Given the description of an element on the screen output the (x, y) to click on. 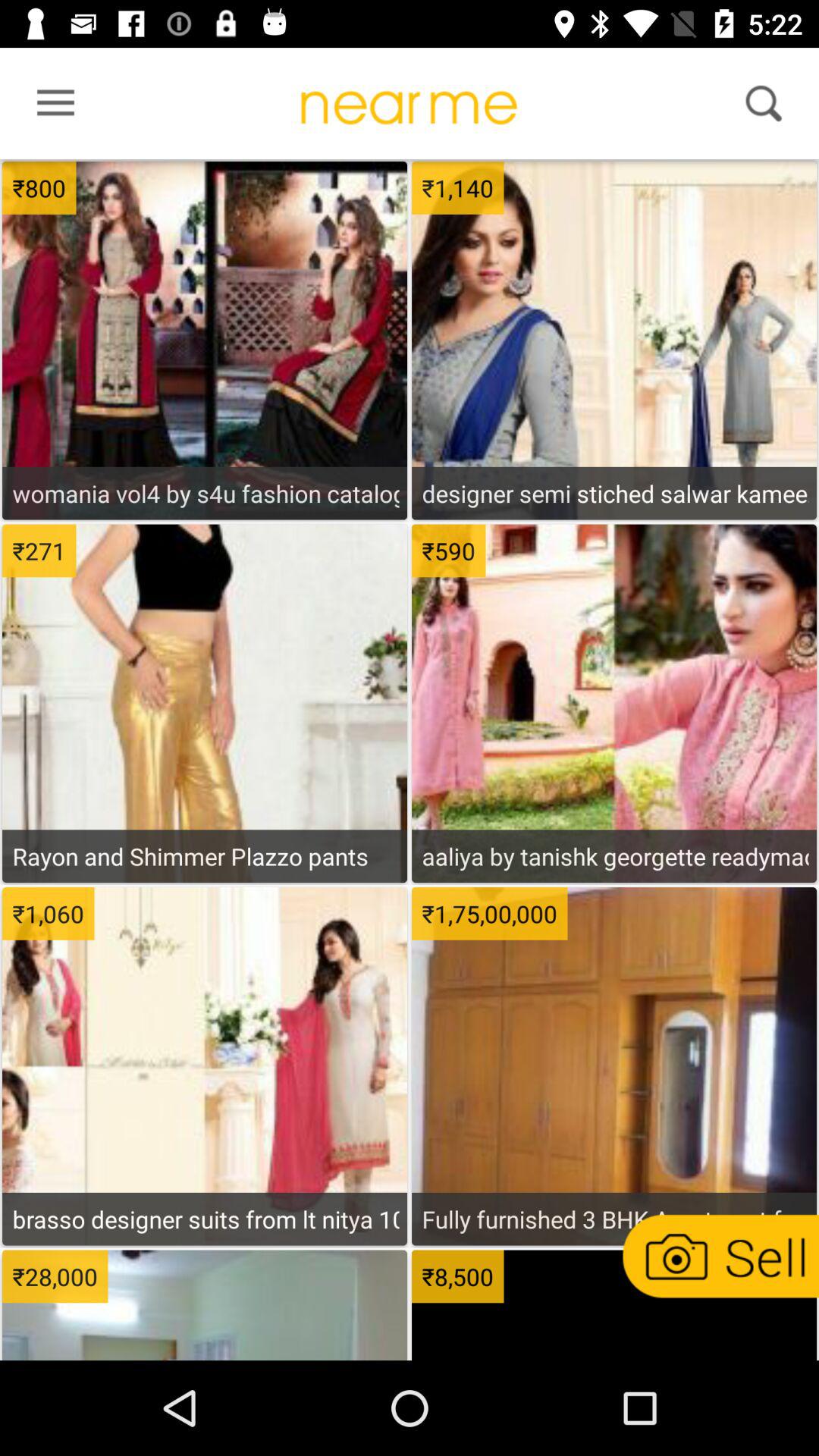
jump to the womania vol4 by icon (204, 492)
